Given the description of an element on the screen output the (x, y) to click on. 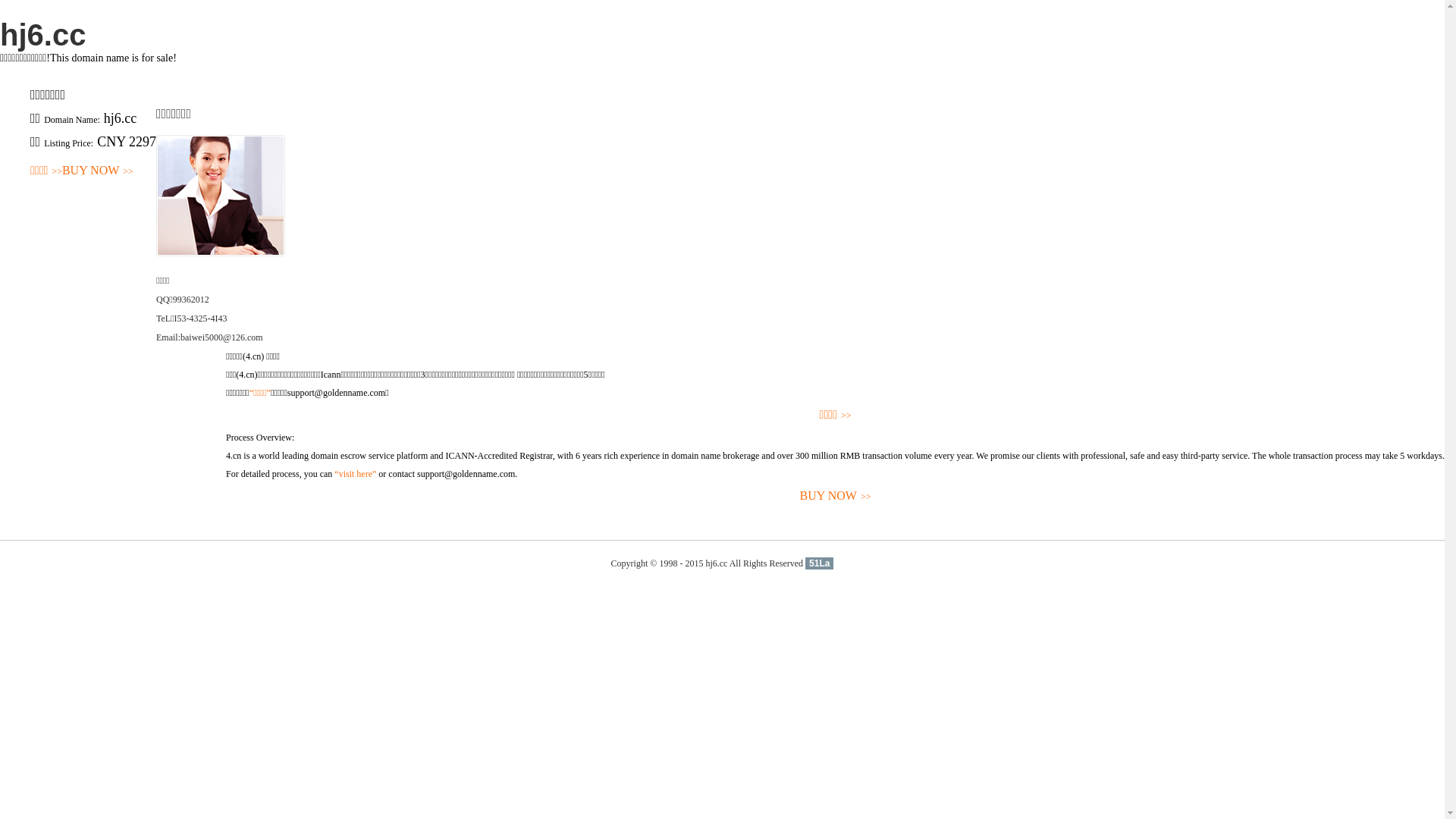
51La Element type: text (819, 563)
BUY NOW>> Element type: text (97, 170)
BUY NOW>> Element type: text (834, 496)
